Given the description of an element on the screen output the (x, y) to click on. 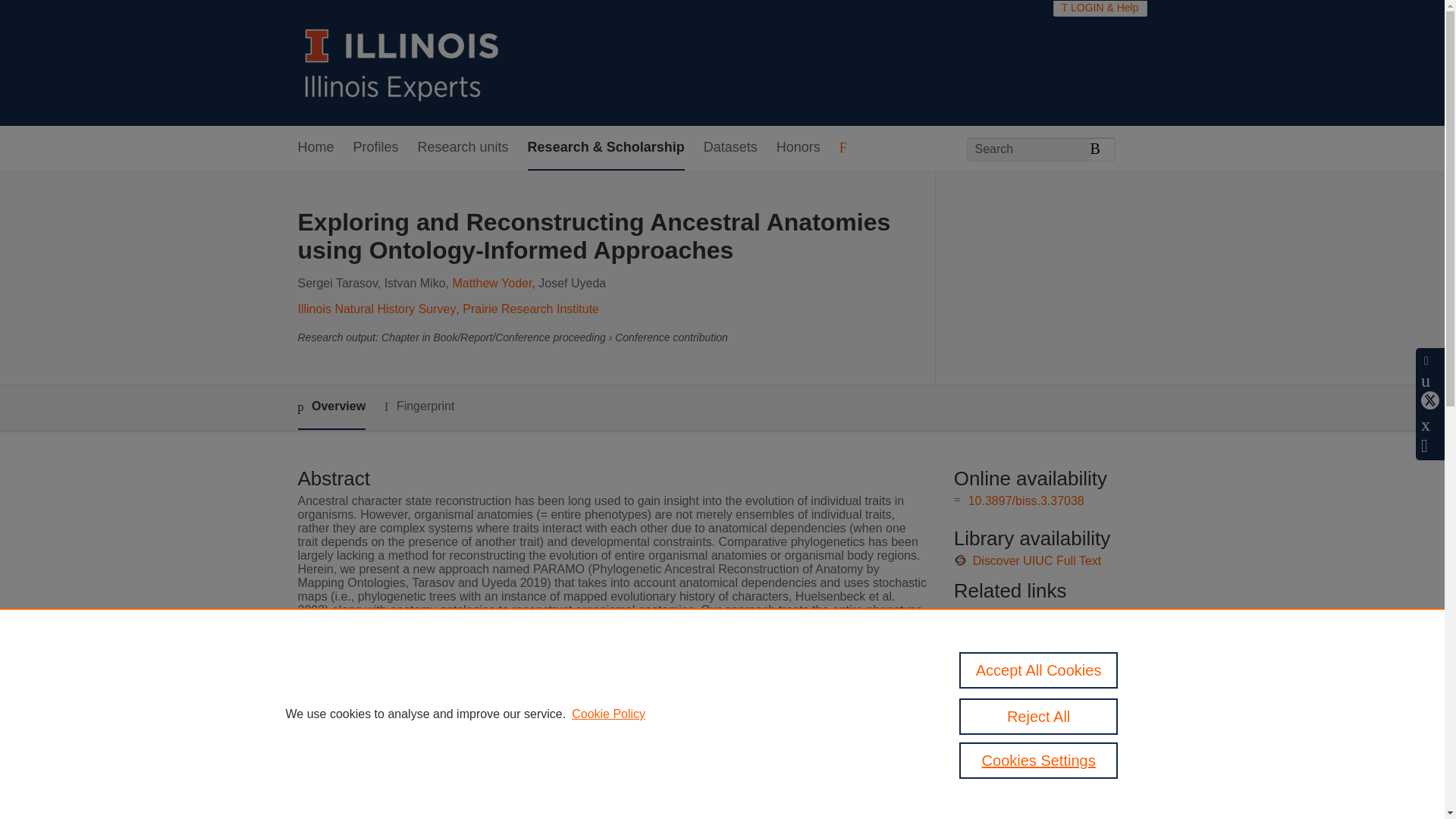
Fingerprint (419, 406)
Illinois Natural History Survey (376, 308)
Profiles (375, 148)
Prairie Research Institute (530, 308)
University of Illinois Urbana-Champaign Home (402, 62)
Discover UIUC Full Text (1037, 560)
Matthew Yoder (491, 282)
Datasets (730, 148)
Research units (462, 148)
